Given the description of an element on the screen output the (x, y) to click on. 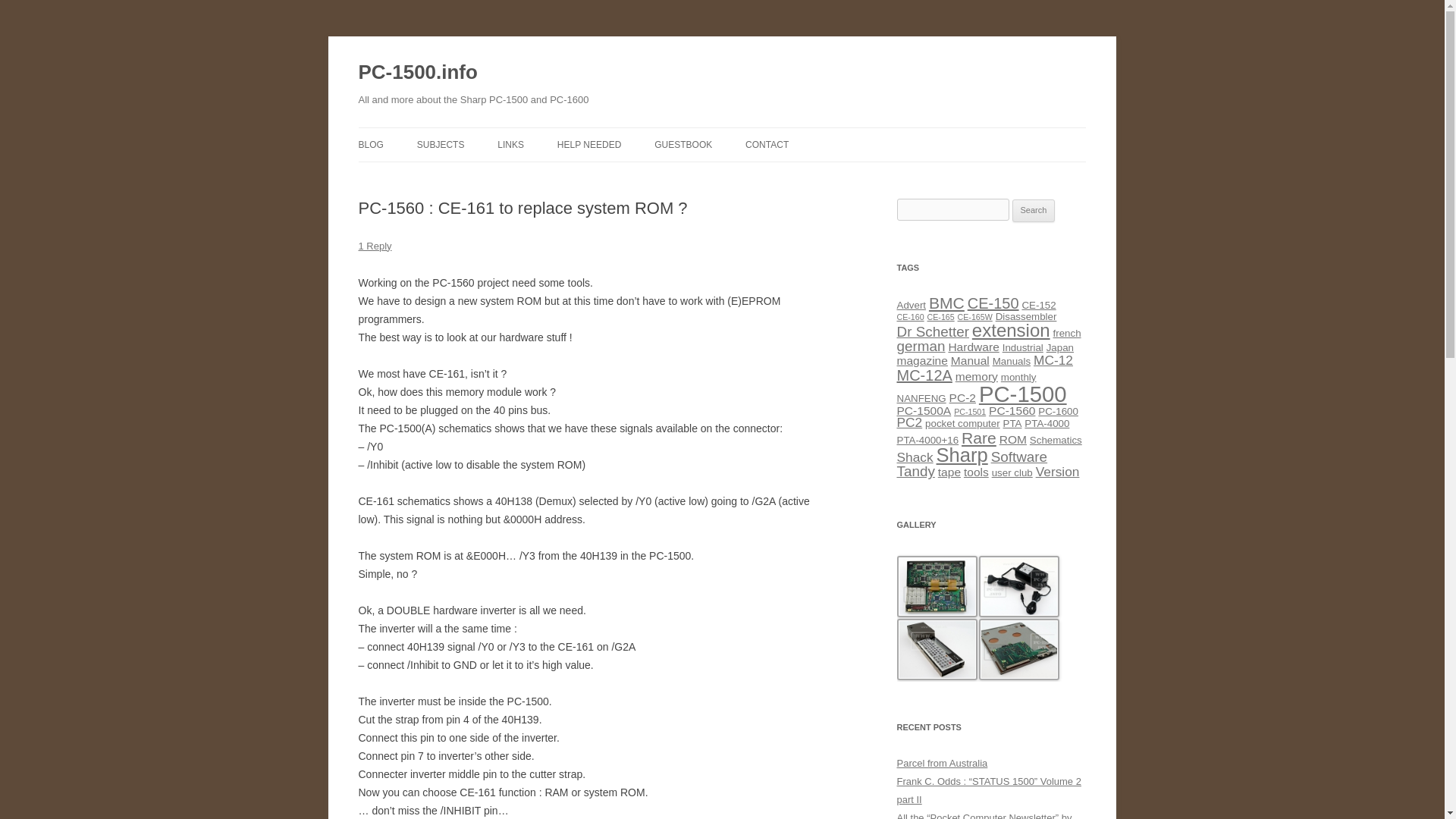
HELP NEEDED (589, 144)
1 Reply (374, 245)
Search (1033, 210)
GUESTBOOK (682, 144)
SUBJECTS (440, 144)
PC-1500.info (417, 72)
CONTACT (767, 144)
THE FAMILY (492, 176)
PC-1500.info (417, 72)
